Given the description of an element on the screen output the (x, y) to click on. 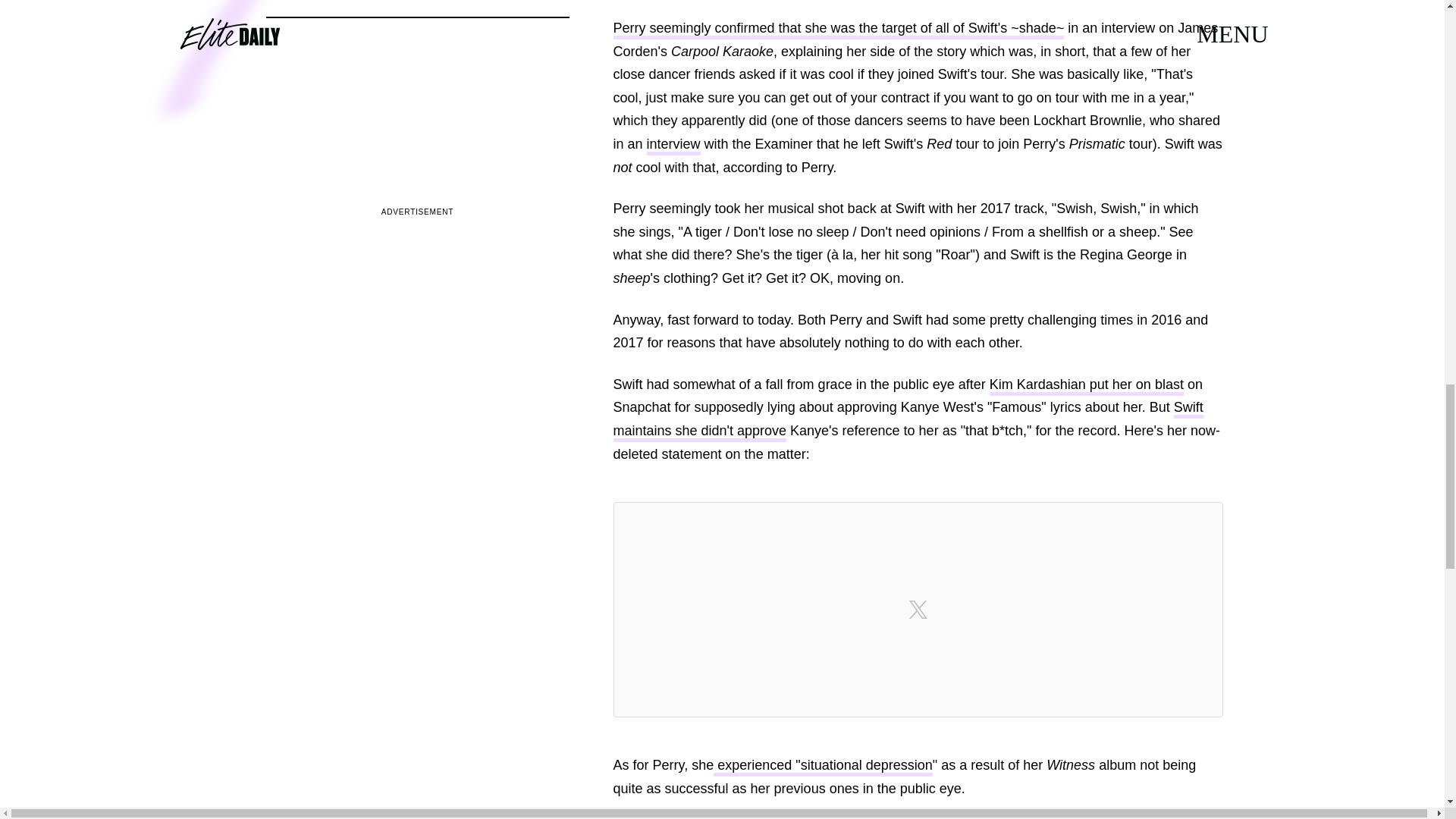
Kim Kardashian put her on blast (1086, 385)
Swift maintains she didn't approve (907, 420)
experienced "situational depression (823, 766)
interview (673, 145)
